Given the description of an element on the screen output the (x, y) to click on. 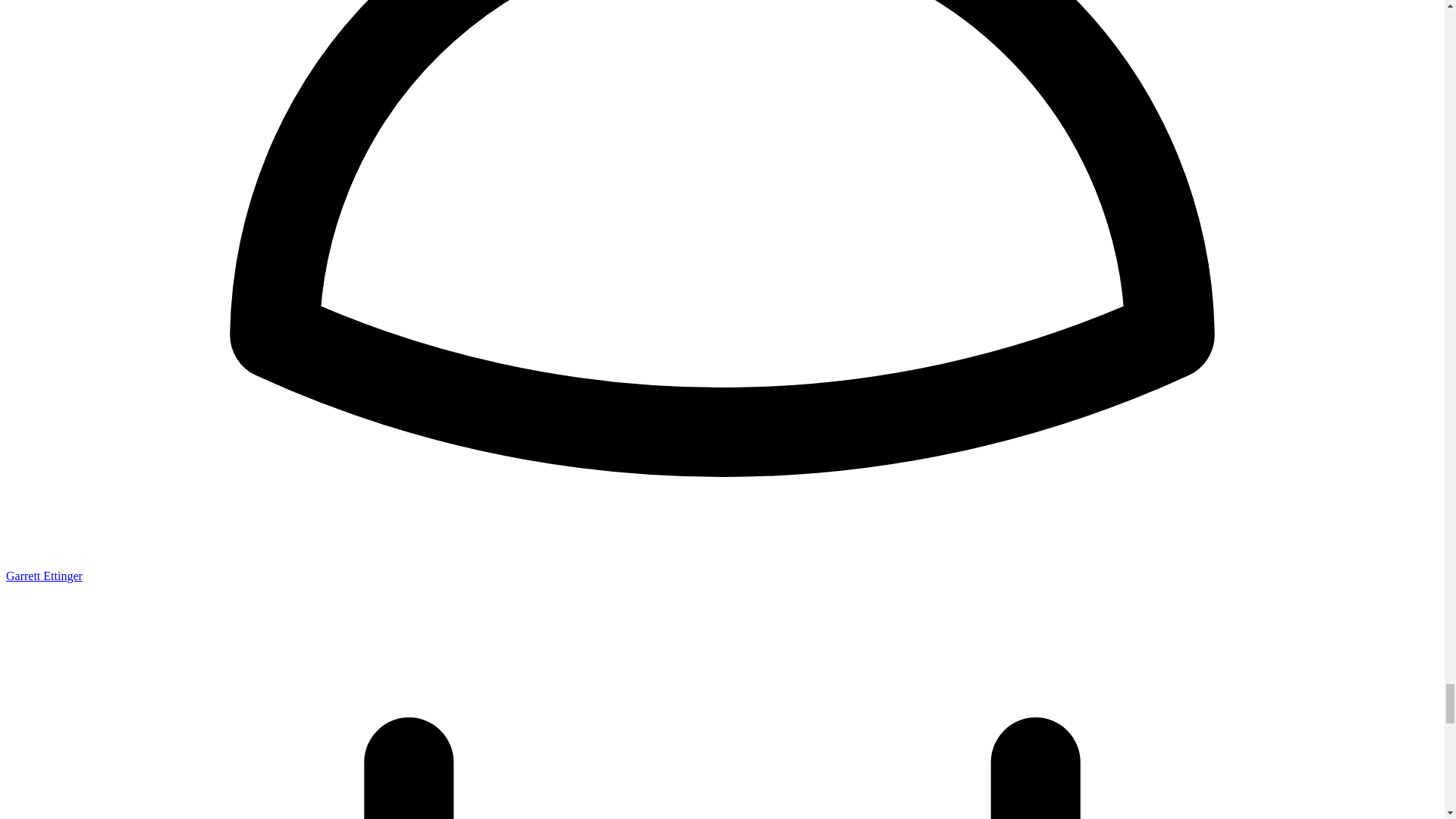
Garrett Ettinger (43, 575)
